Given the description of an element on the screen output the (x, y) to click on. 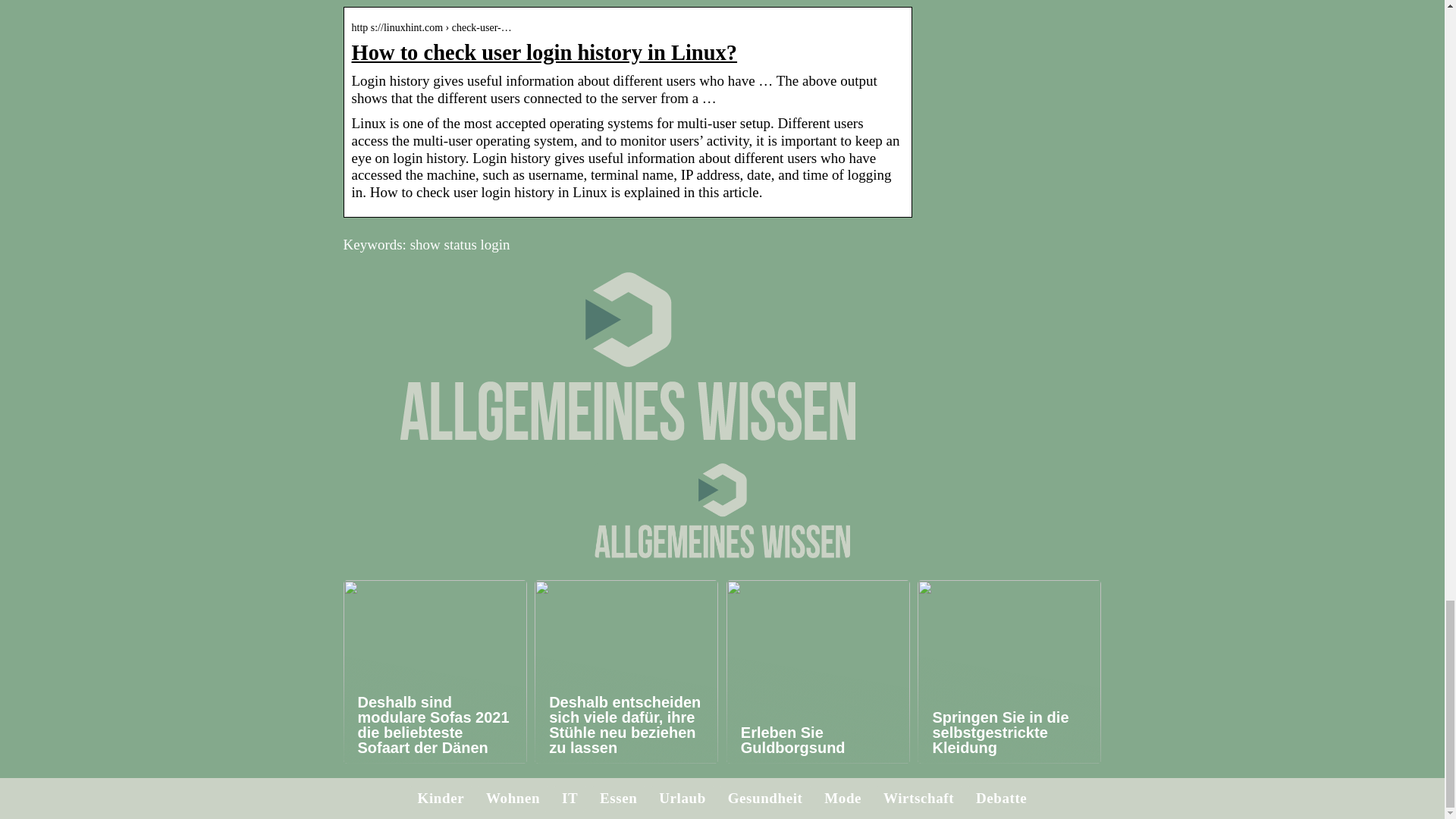
Essen (618, 797)
Kinder (440, 797)
Springen Sie in die selbstgestrickte Kleidung (1008, 671)
IT (570, 797)
Wohnen (513, 797)
Erleben Sie Guldborgsund (818, 671)
Urlaub (682, 797)
